Given the description of an element on the screen output the (x, y) to click on. 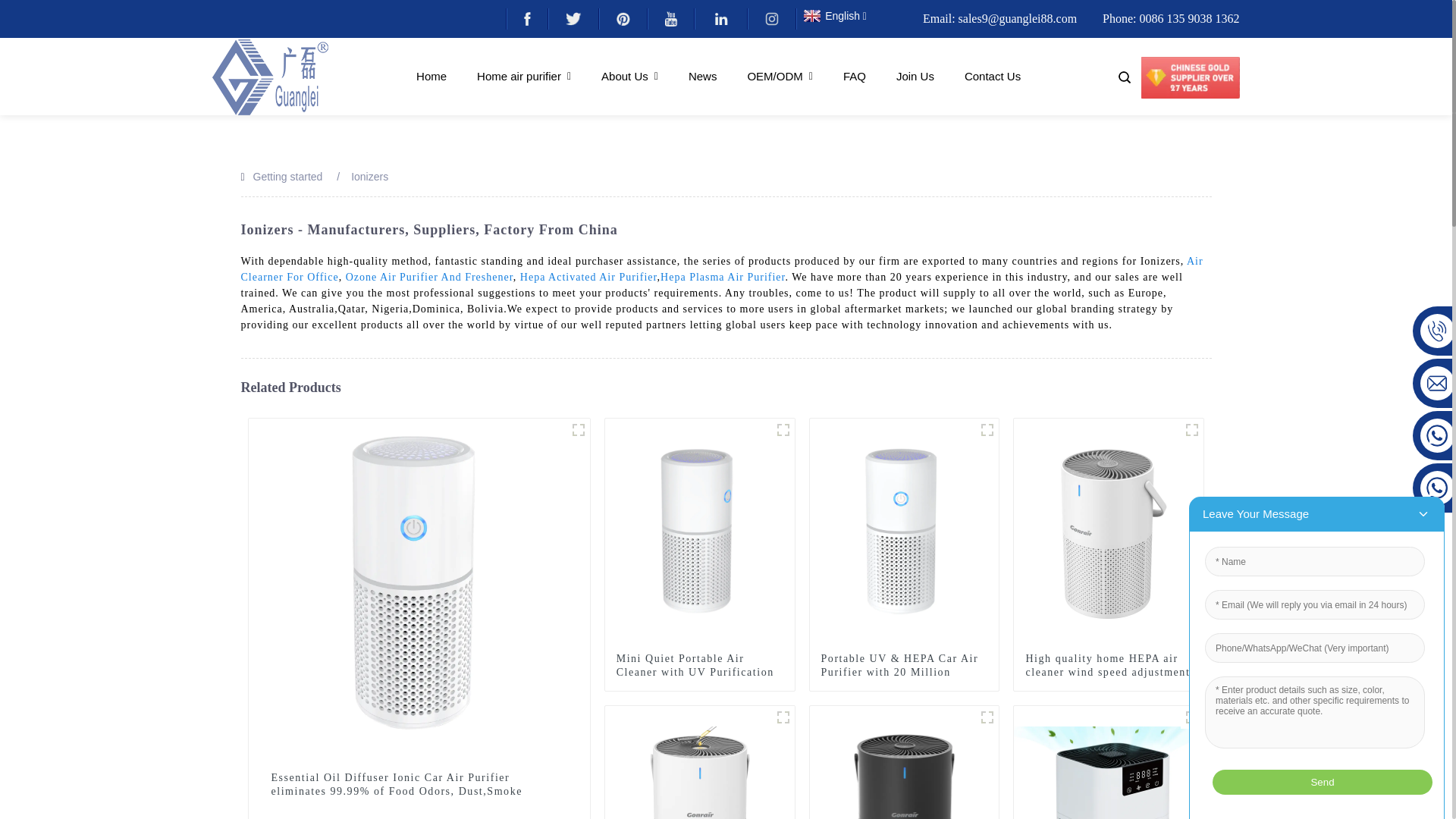
Ozone Air Purifier And Freshener (429, 276)
Join Us (915, 76)
5 (1192, 429)
News (702, 76)
sns03 (622, 18)
Hepa Plasma Air Purifier (722, 276)
Getting started (288, 176)
sns02 (573, 18)
Hepa Activated Air Purifier (588, 276)
Home (431, 76)
About Us (629, 76)
